Given the description of an element on the screen output the (x, y) to click on. 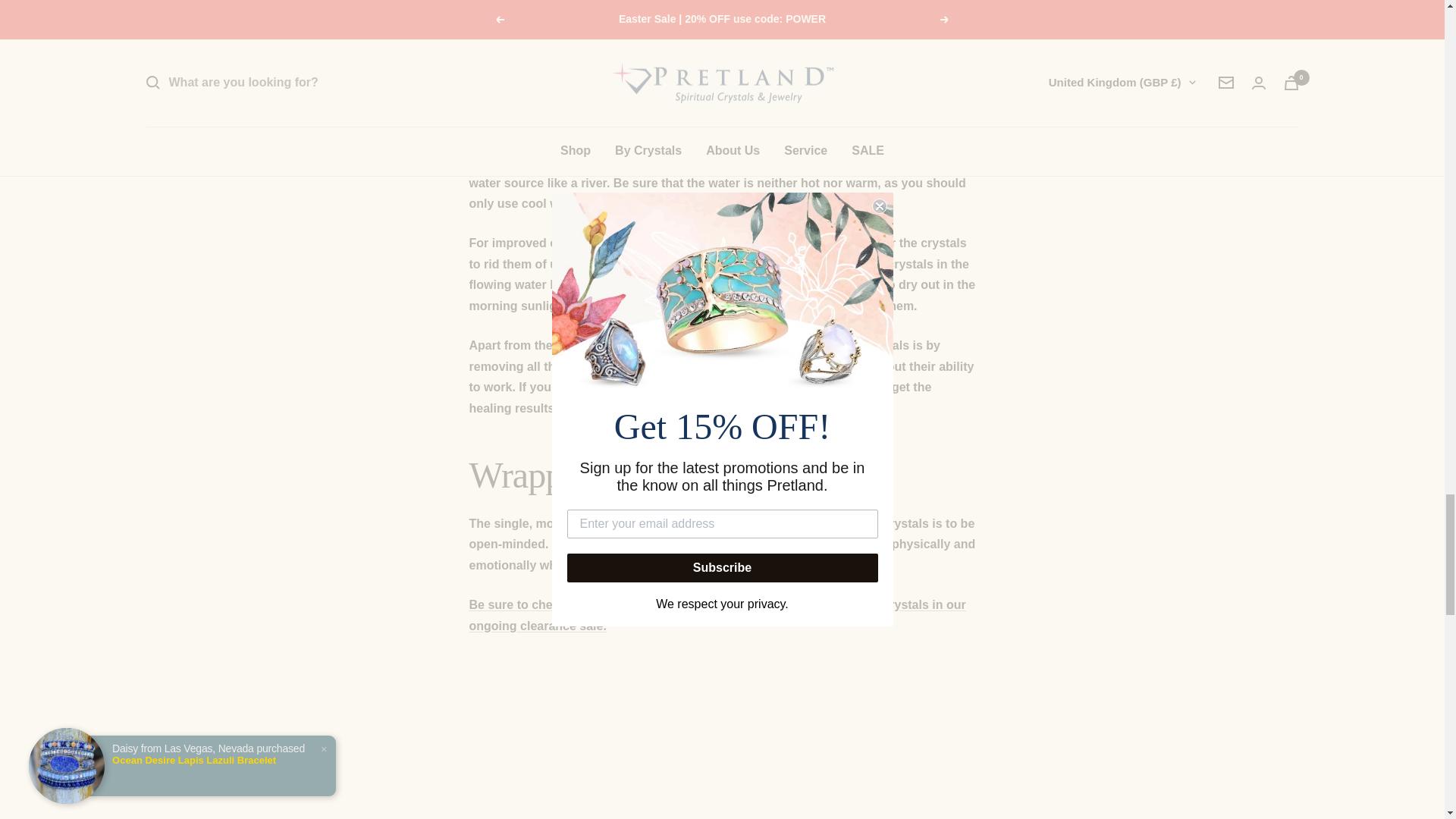
YouTube video player (721, 773)
SUMMER CLEARANCE SALE (716, 615)
